Given the description of an element on the screen output the (x, y) to click on. 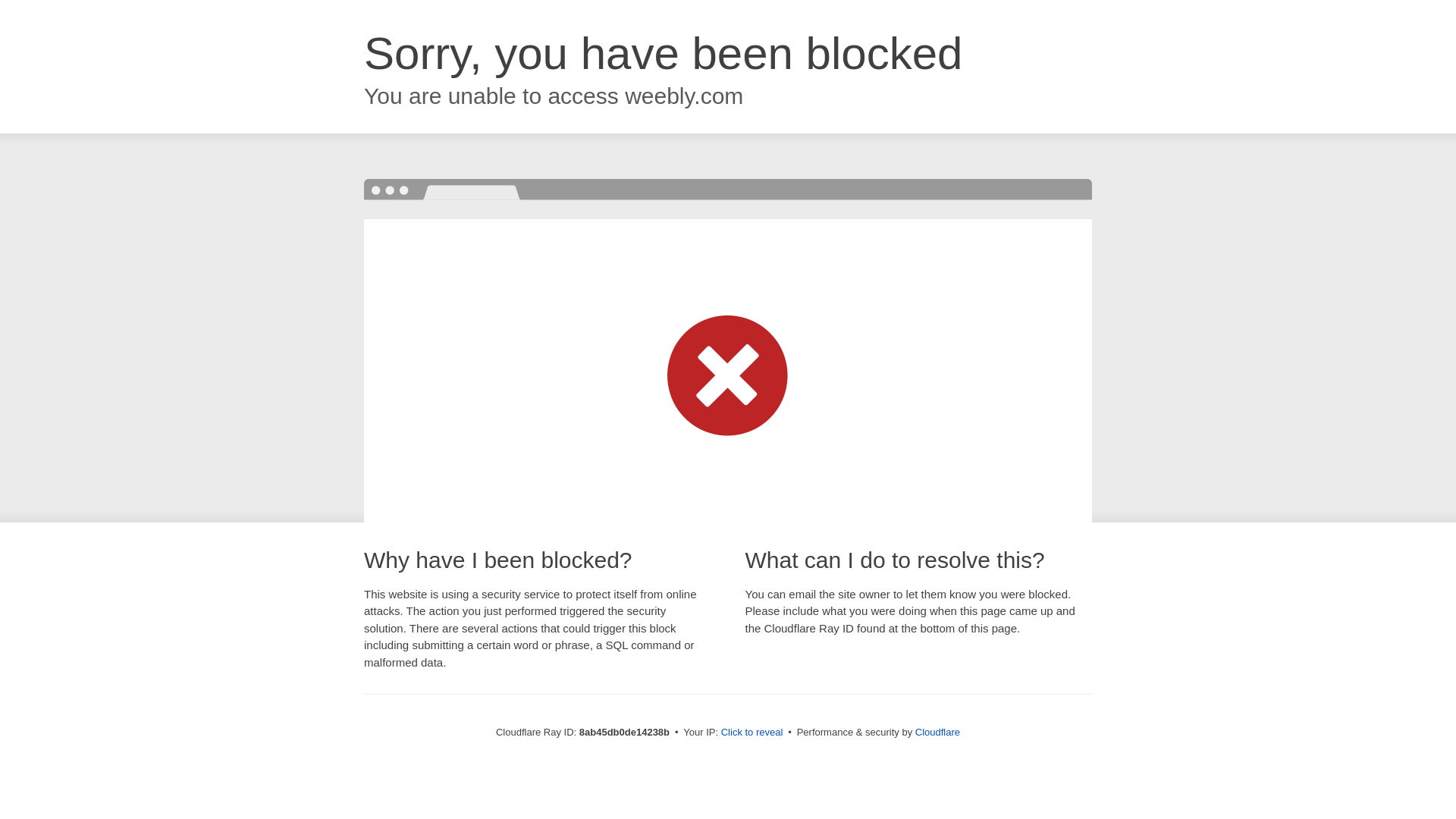
Cloudflare (937, 731)
Click to reveal (751, 732)
